Given the description of an element on the screen output the (x, y) to click on. 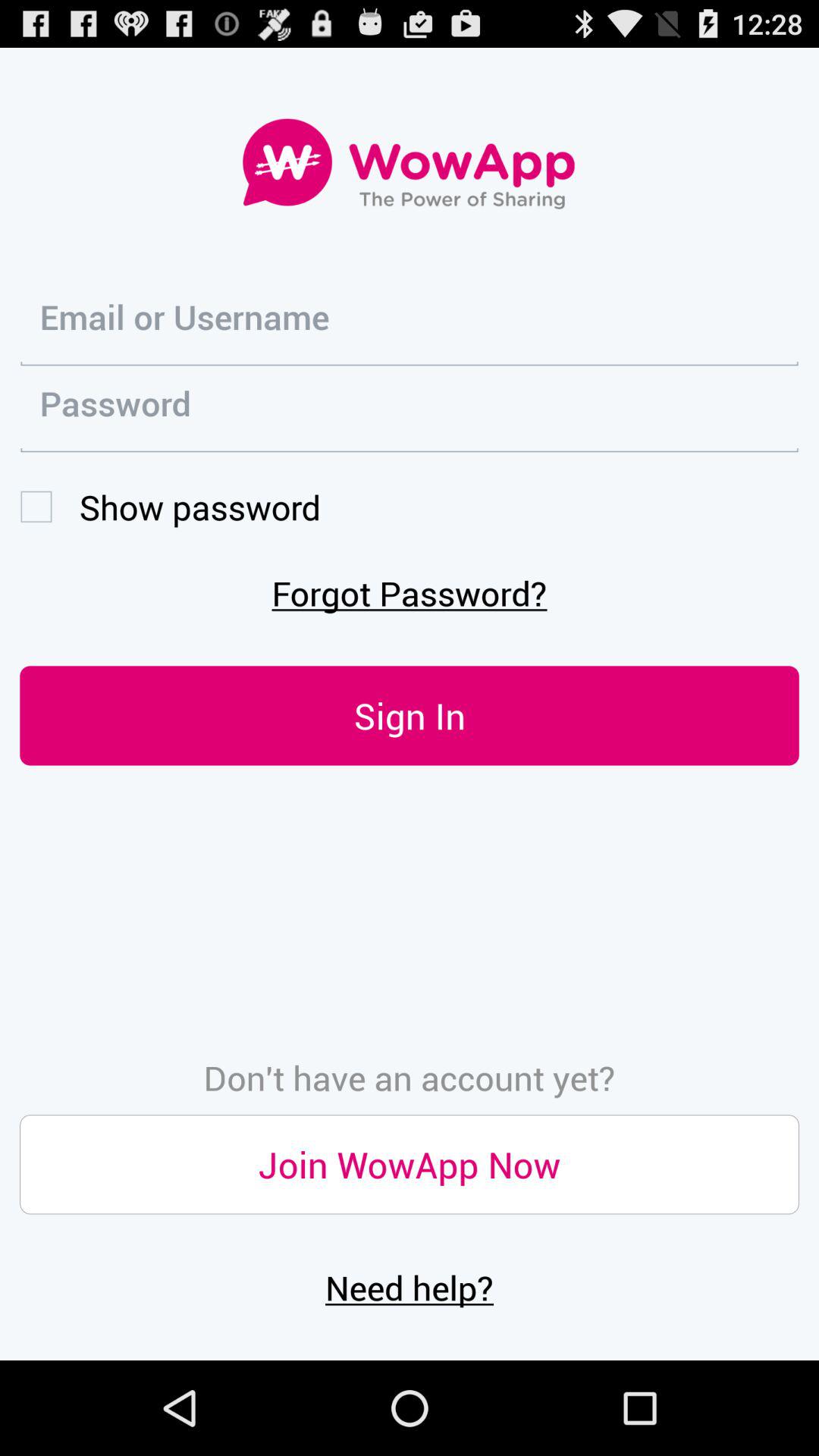
launch icon above the show password icon (409, 408)
